Given the description of an element on the screen output the (x, y) to click on. 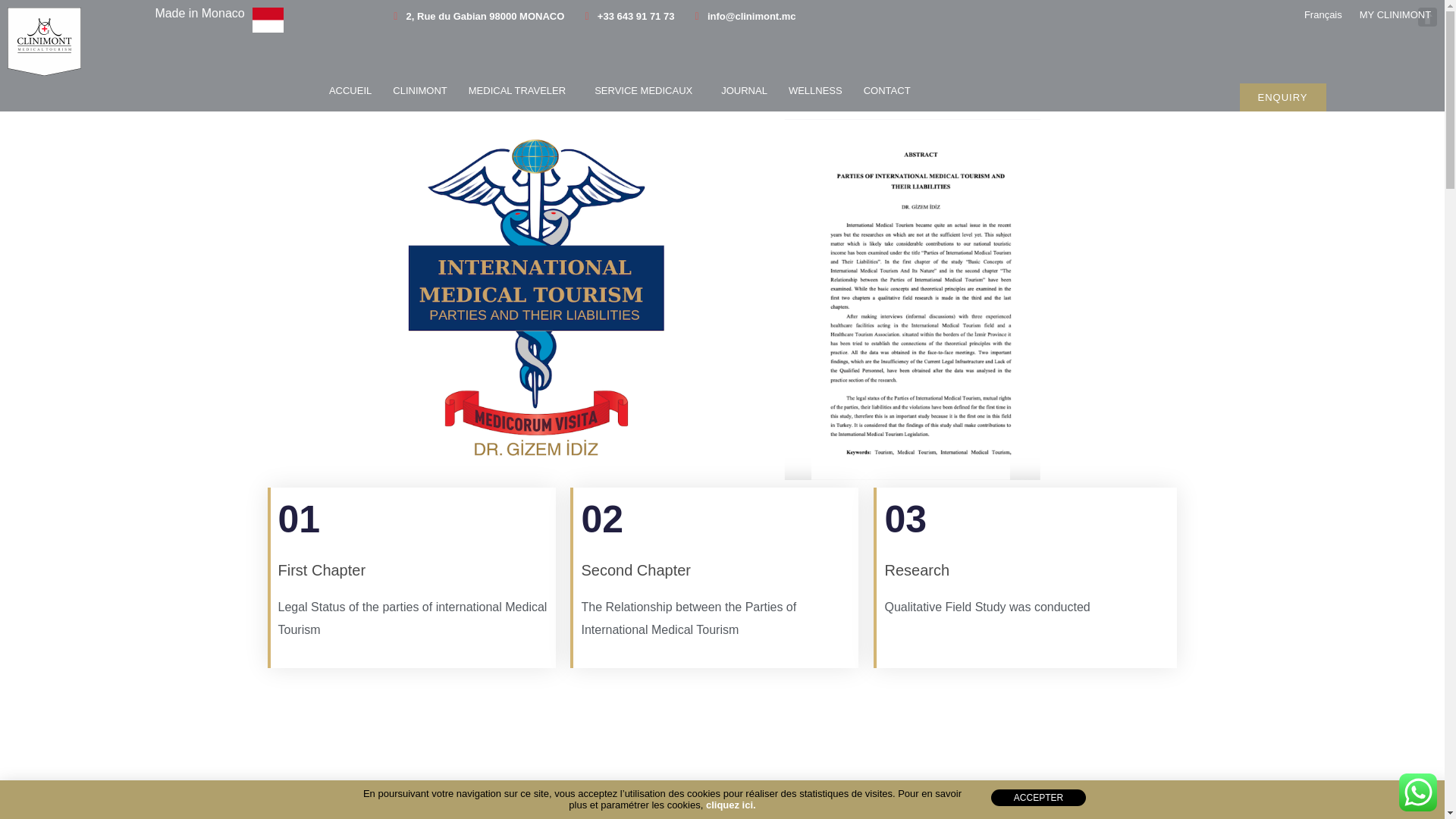
MY CLINIMONT (1395, 14)
WELLNESS (816, 90)
JOURNAL (743, 90)
MEDICAL TRAVELER (520, 90)
CLINIMONT (419, 90)
ACCUEIL (350, 90)
SERVICE MEDICAUX (647, 90)
CONTACT (887, 90)
